Given the description of an element on the screen output the (x, y) to click on. 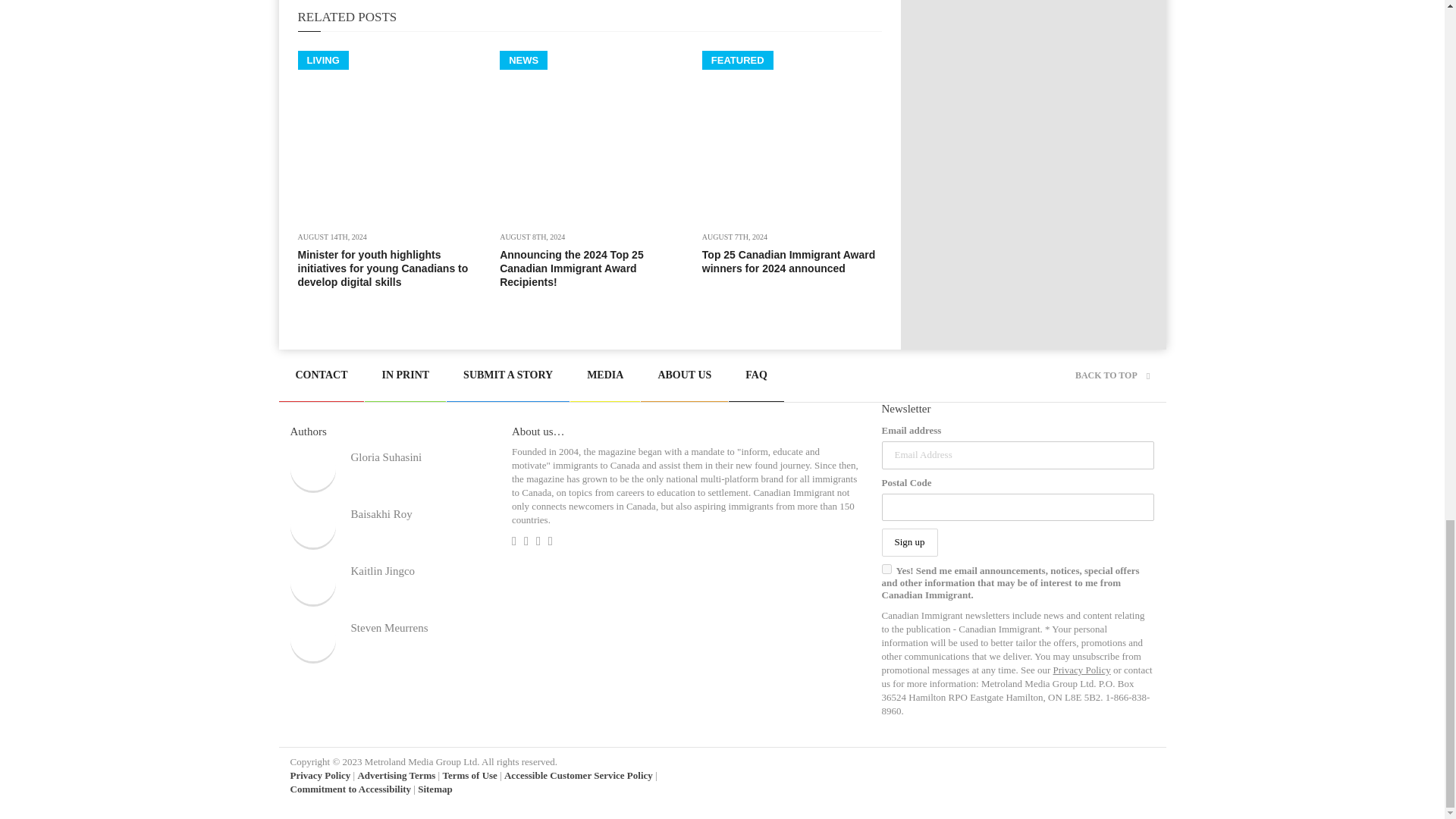
BACK TO TOP (1112, 375)
Sign up (908, 542)
1 (885, 569)
